Given the description of an element on the screen output the (x, y) to click on. 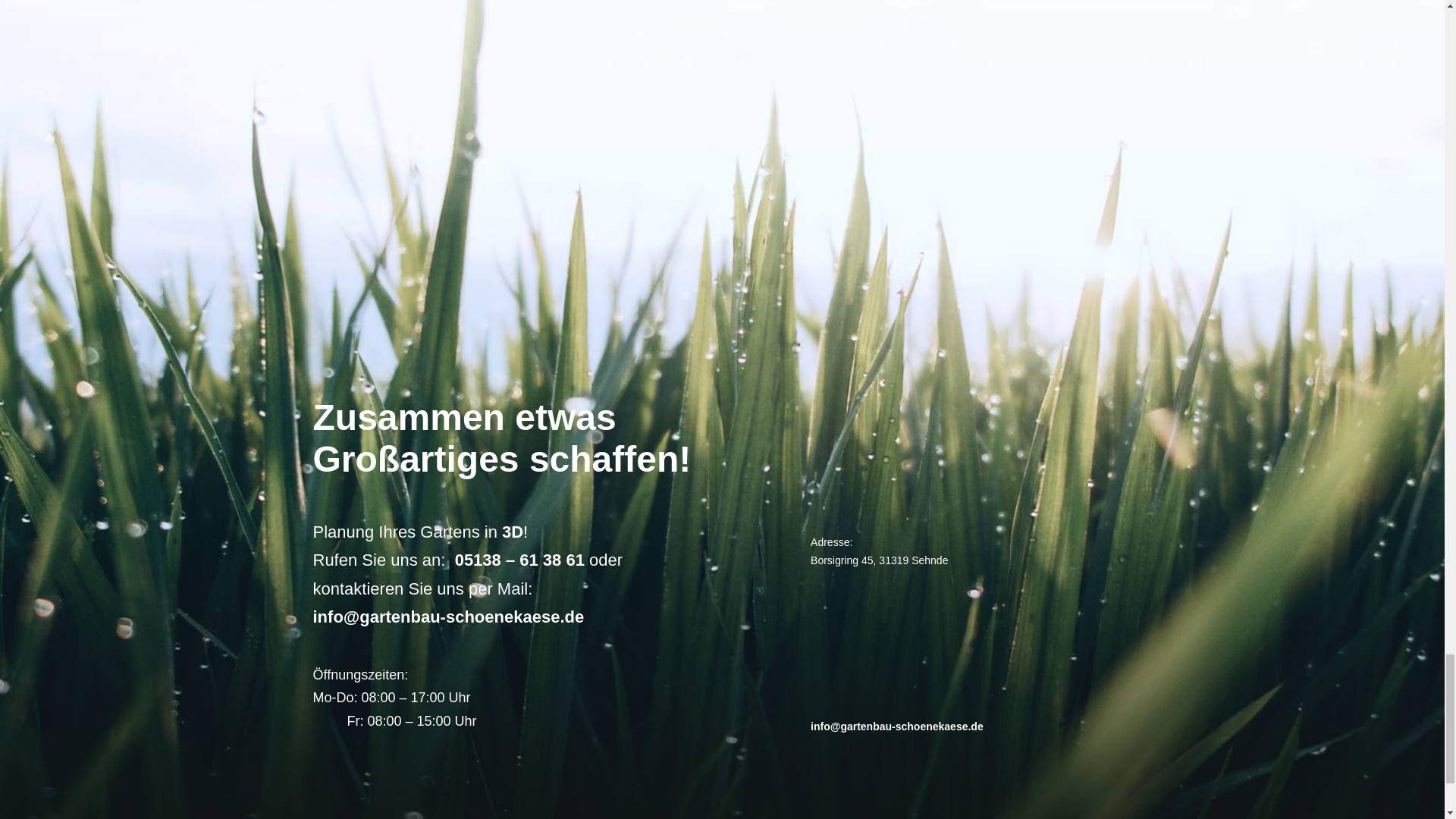
angemeldet (527, 169)
Borsigring 45, 31319, Deutschland (910, 649)
